Given the description of an element on the screen output the (x, y) to click on. 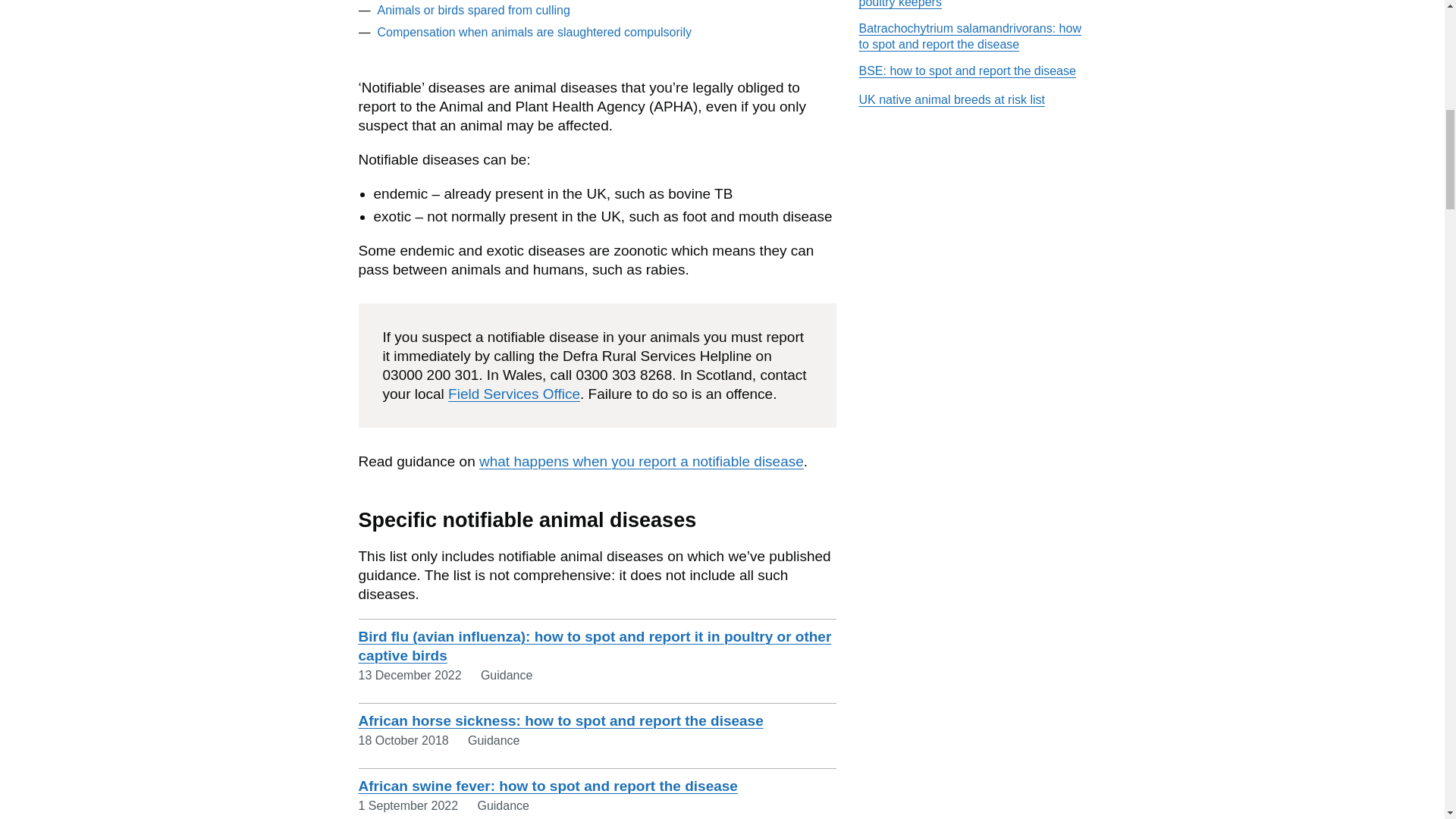
African swine fever: how to spot and report the disease (547, 785)
Field Services Office (513, 393)
African horse sickness: how to spot and report the disease (560, 720)
Compensation when animals are slaughtered compulsorily (534, 31)
Animals or birds spared from culling (473, 10)
what happens when you report a notifiable disease (641, 461)
Animal and Plant and Health Agency (673, 106)
